Given the description of an element on the screen output the (x, y) to click on. 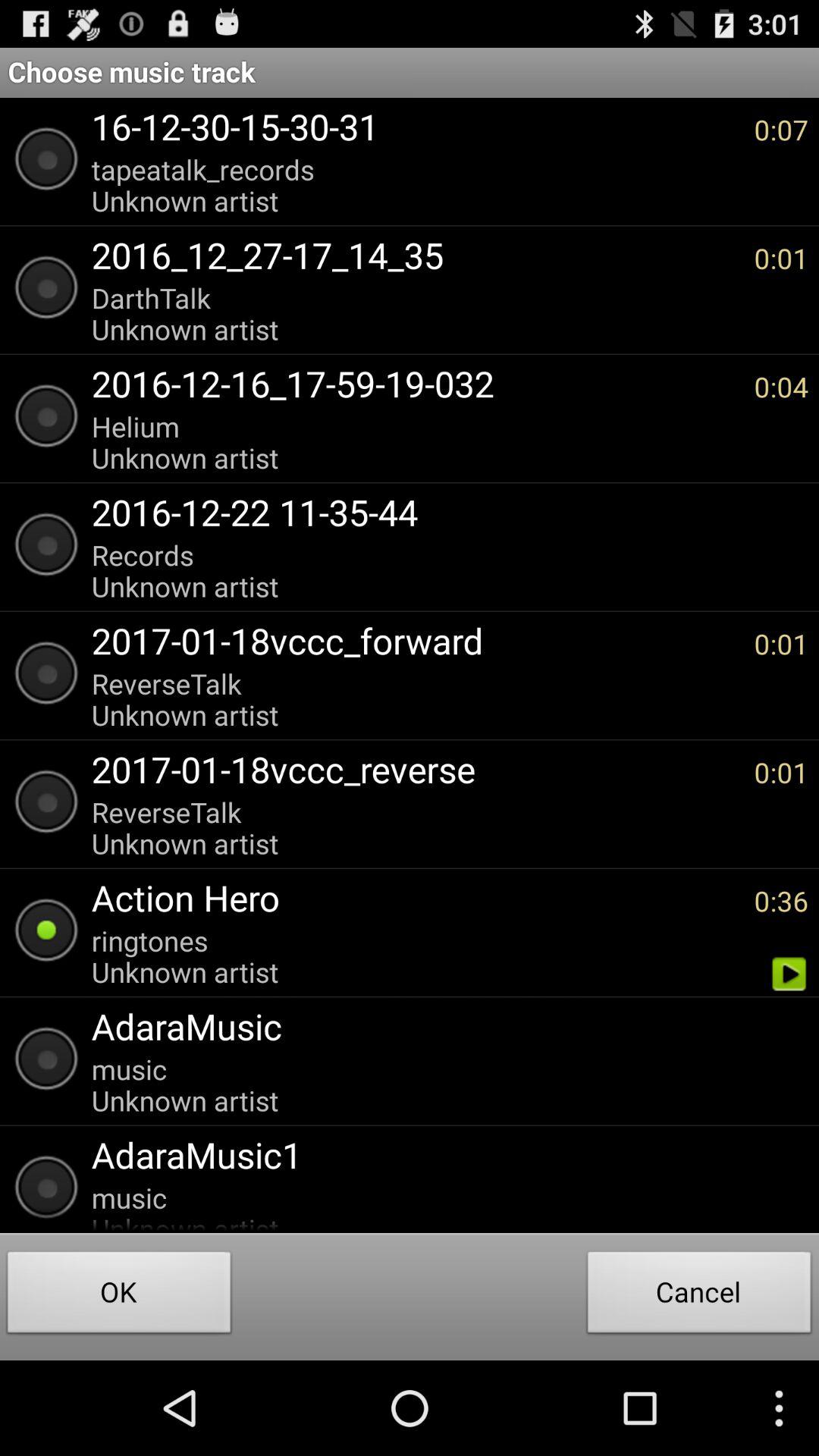
turn on app next to 0:07 app (414, 185)
